Given the description of an element on the screen output the (x, y) to click on. 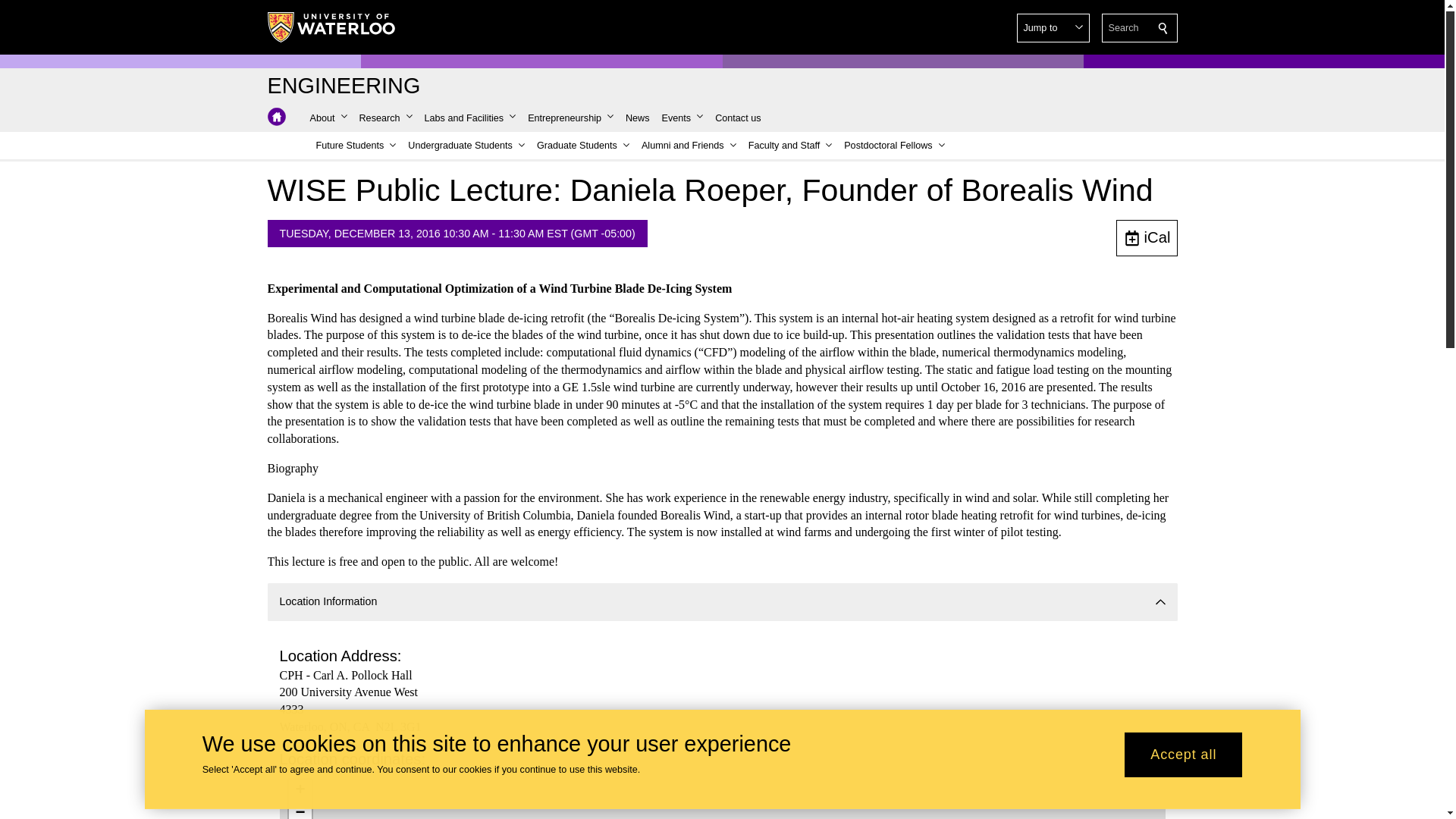
Zoom out (299, 810)
ENGINEERING (343, 85)
Engineering Home (275, 116)
About (327, 117)
Labs and Facilities (470, 117)
Jump to (1053, 27)
University of Waterloo Home (331, 27)
Engineering Home (343, 85)
Entrepreneurship (570, 117)
Search (1163, 27)
Research (386, 117)
Search (1163, 27)
Engineering Home (275, 116)
Zoom in (299, 790)
